Given the description of an element on the screen output the (x, y) to click on. 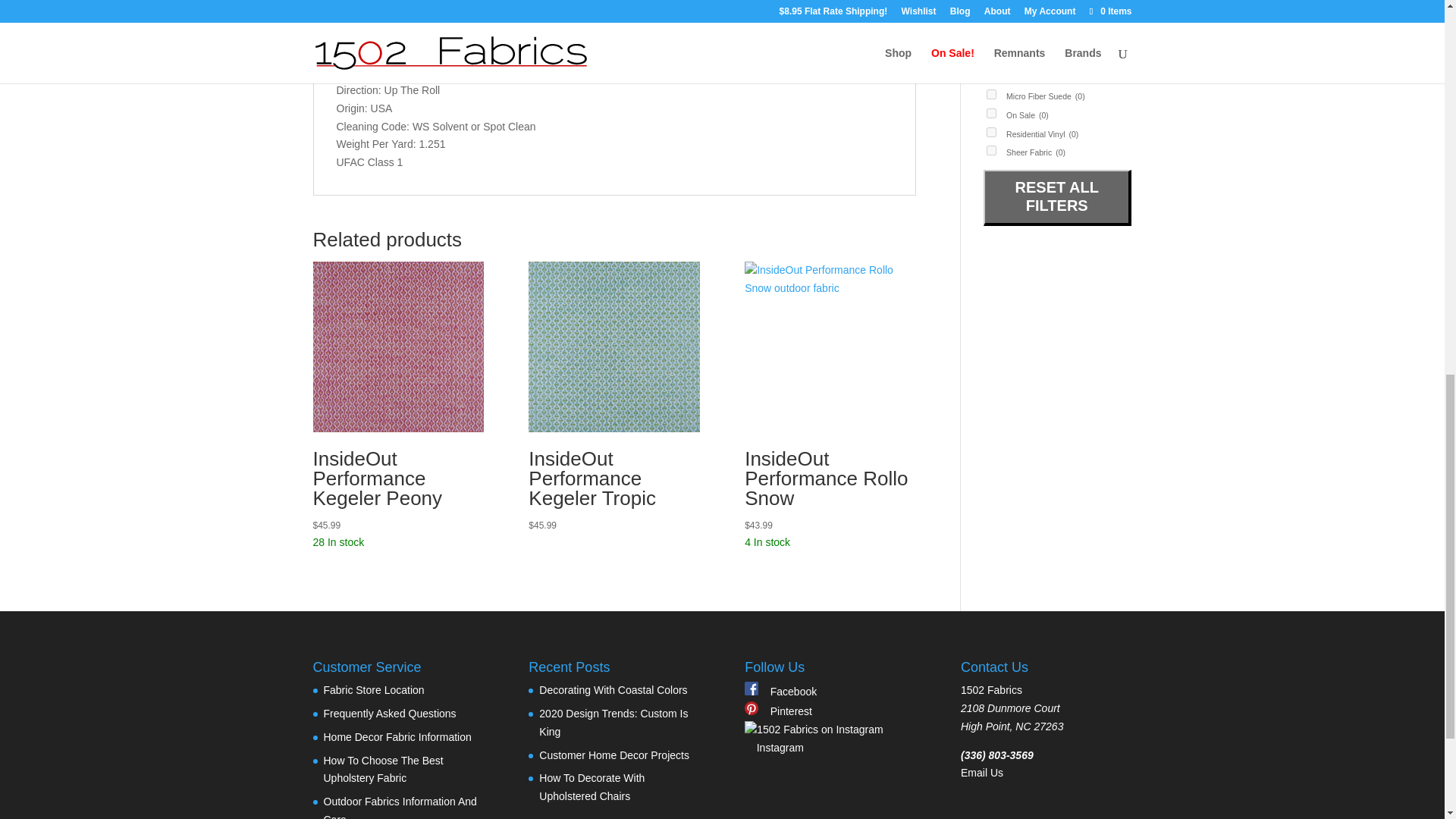
How To Decorate With Upholstered Chairs (591, 787)
residential-vinyl (991, 132)
RESET ALL FILTERS (1056, 196)
Decorating With Coastal Colors (612, 689)
on-sale (991, 112)
Frequently Asked Questions (389, 713)
Outdoor Fabrics Information And Care (399, 807)
Home Decor Fabric Information (396, 736)
drapery-lining (991, 56)
Customer Home Decor Projects (613, 755)
micro-fiber-suede (991, 94)
marine-vinyl (991, 75)
sheer-fabric (991, 150)
Fabric Store Location (373, 689)
How To Choose The Best Upholstery Fabric (382, 769)
